Given the description of an element on the screen output the (x, y) to click on. 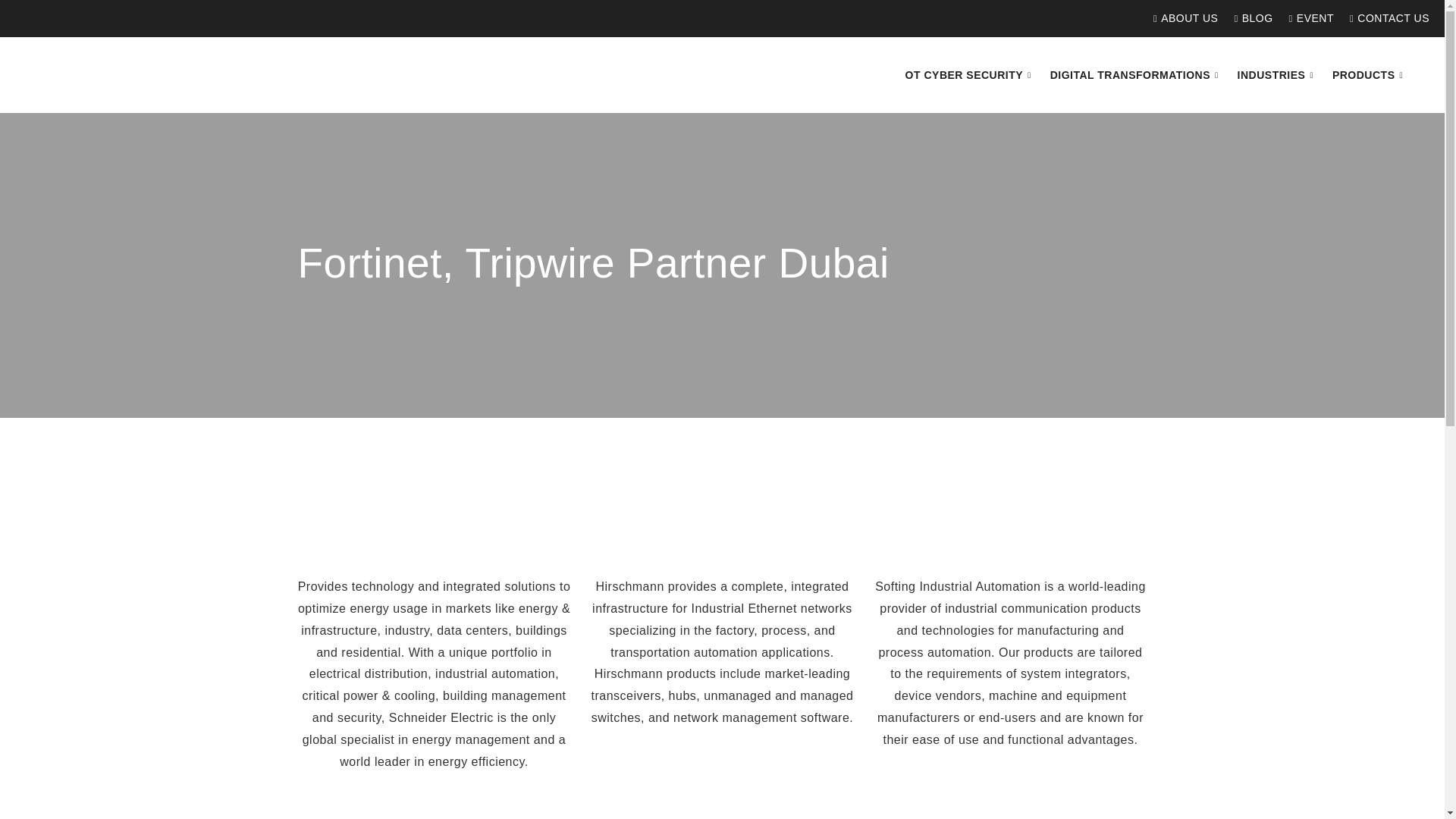
EVENT (1307, 18)
PRODUCTS (1368, 75)
INDUSTRIES (1277, 75)
DIGITAL TRANSFORMATIONS (1136, 75)
OT CYBER SECURITY (970, 75)
ABOUT US (1181, 18)
CONTACT US (1384, 18)
BLOG (1248, 18)
